Given the description of an element on the screen output the (x, y) to click on. 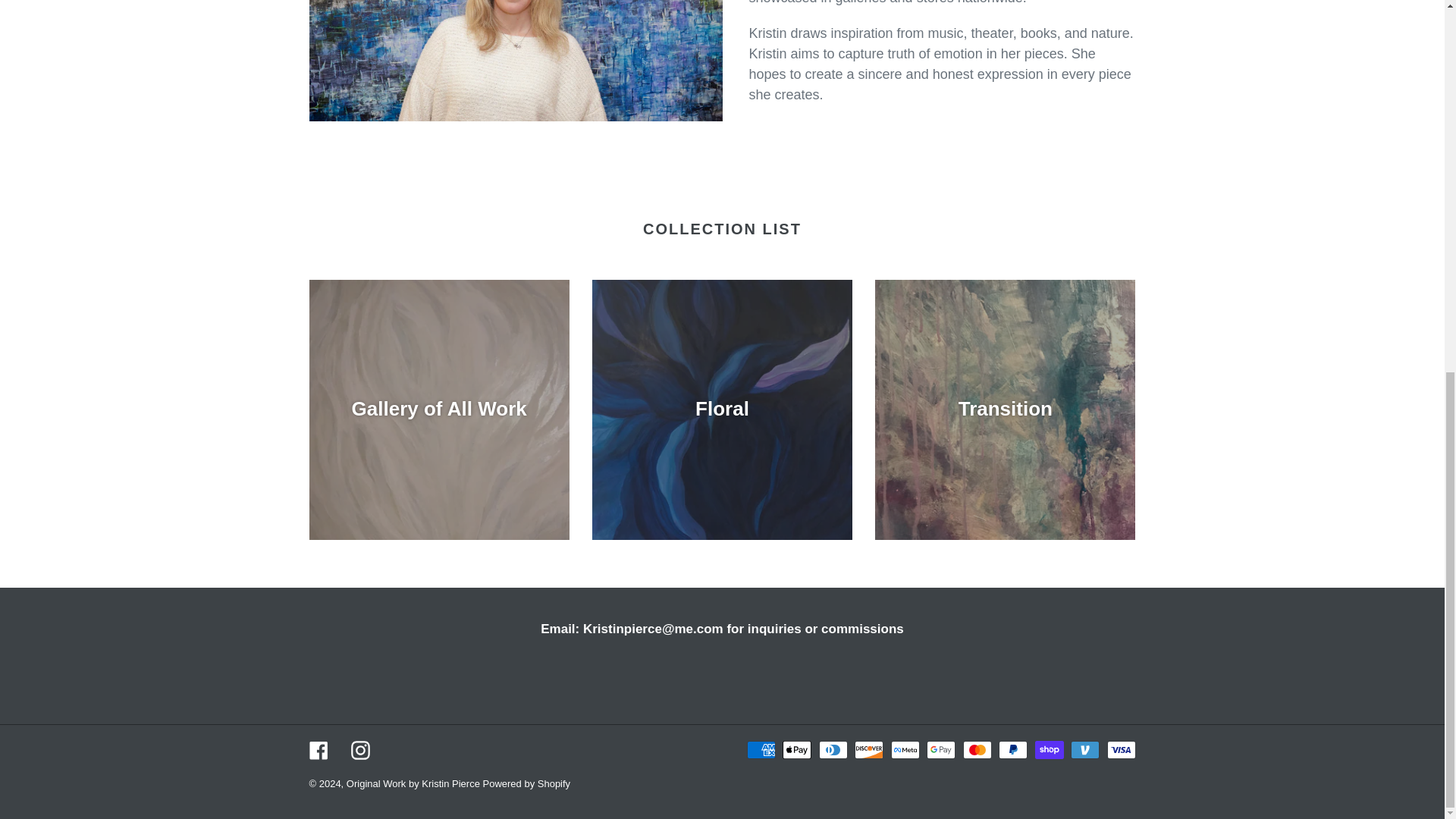
Floral (721, 409)
Facebook (318, 750)
Powered by Shopify (525, 783)
Gallery of All Work (438, 409)
Transition (1005, 409)
Instagram (359, 750)
Original Work by Kristin Pierce (414, 783)
